Given the description of an element on the screen output the (x, y) to click on. 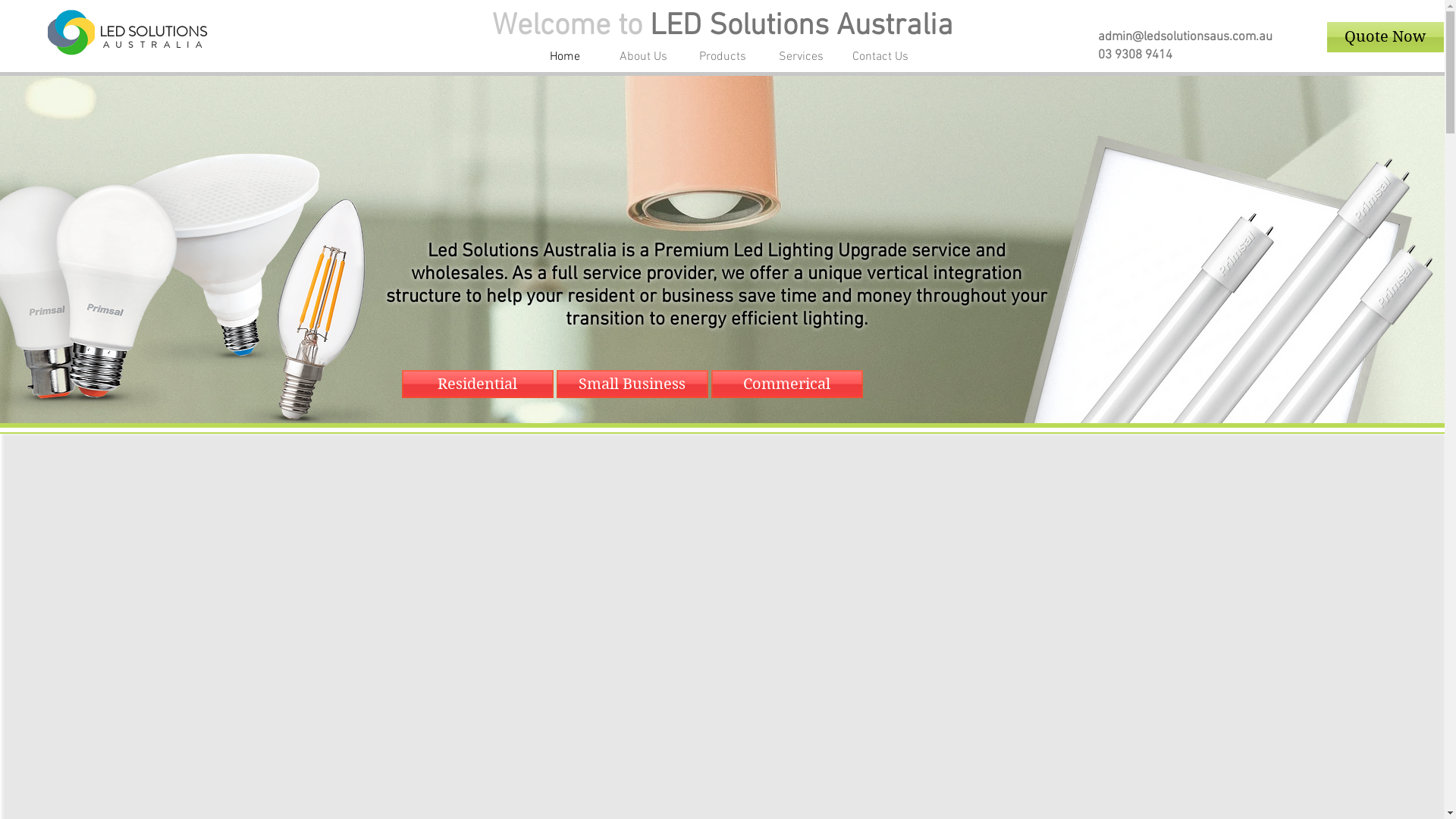
admin@ledsolutionsaus.com.au Element type: text (1185, 36)
LED Solutions Australia Element type: text (801, 26)
Residential Element type: text (477, 384)
About Us Element type: text (642, 57)
Welcome to Element type: text (570, 26)
Products Element type: text (721, 57)
Home Element type: text (563, 57)
Commerical Element type: text (786, 384)
Quote Now Element type: text (1385, 36)
Services Element type: text (800, 57)
Contact Us Element type: text (879, 57)
Small Business Element type: text (632, 384)
